Given the description of an element on the screen output the (x, y) to click on. 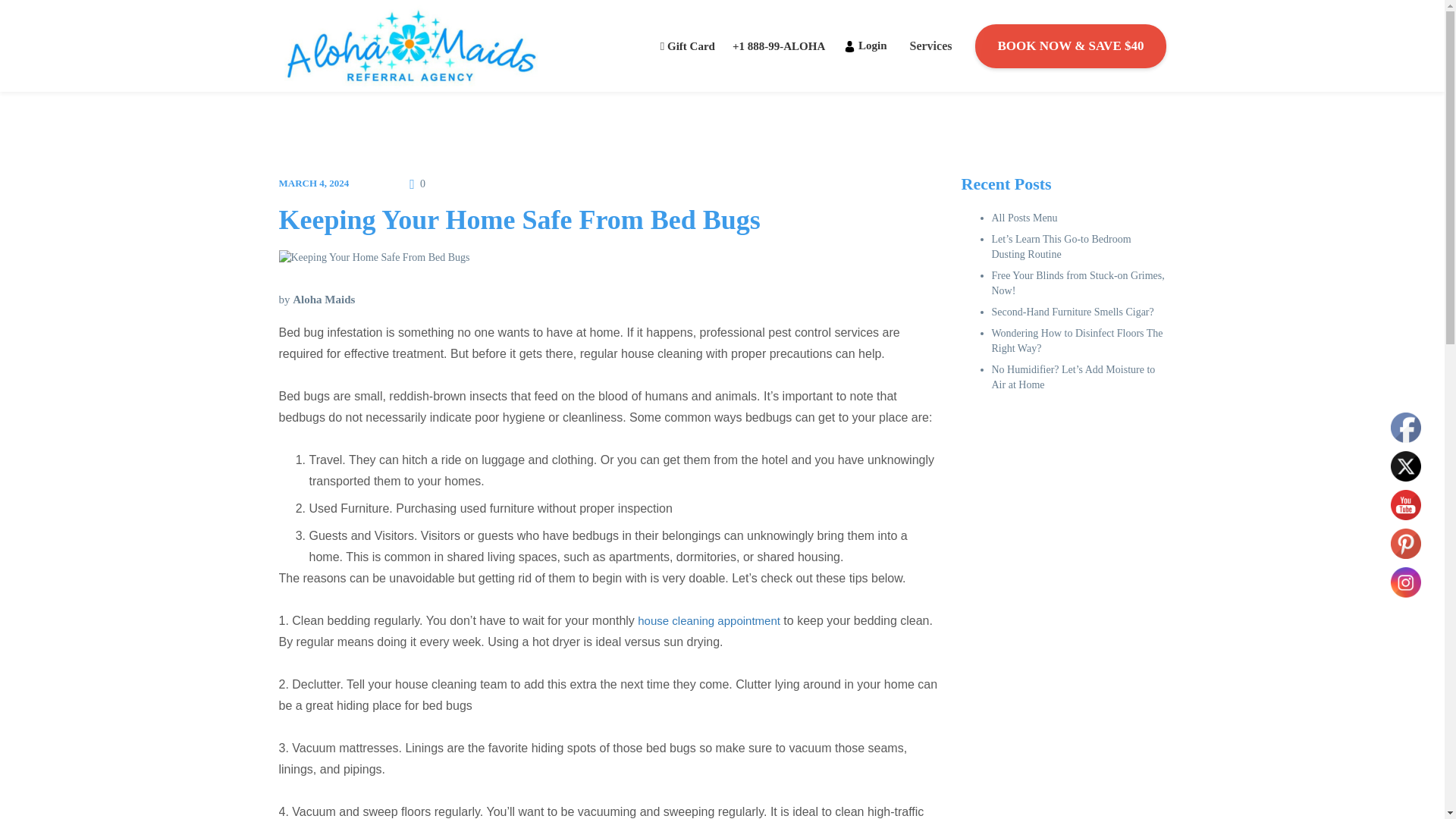
Look Wondering How to Disinfect Floors The Right Way? (1077, 340)
Look Free Your Blinds from Stuck-on Grimes, Now! (1077, 283)
House Cleaning Services and Housekeeping services near me (850, 46)
Facebook (1405, 427)
Services (930, 45)
Login (865, 45)
Look Second-Hand Furniture Smells Cigar? (1072, 311)
Twitter (1405, 466)
